Given the description of an element on the screen output the (x, y) to click on. 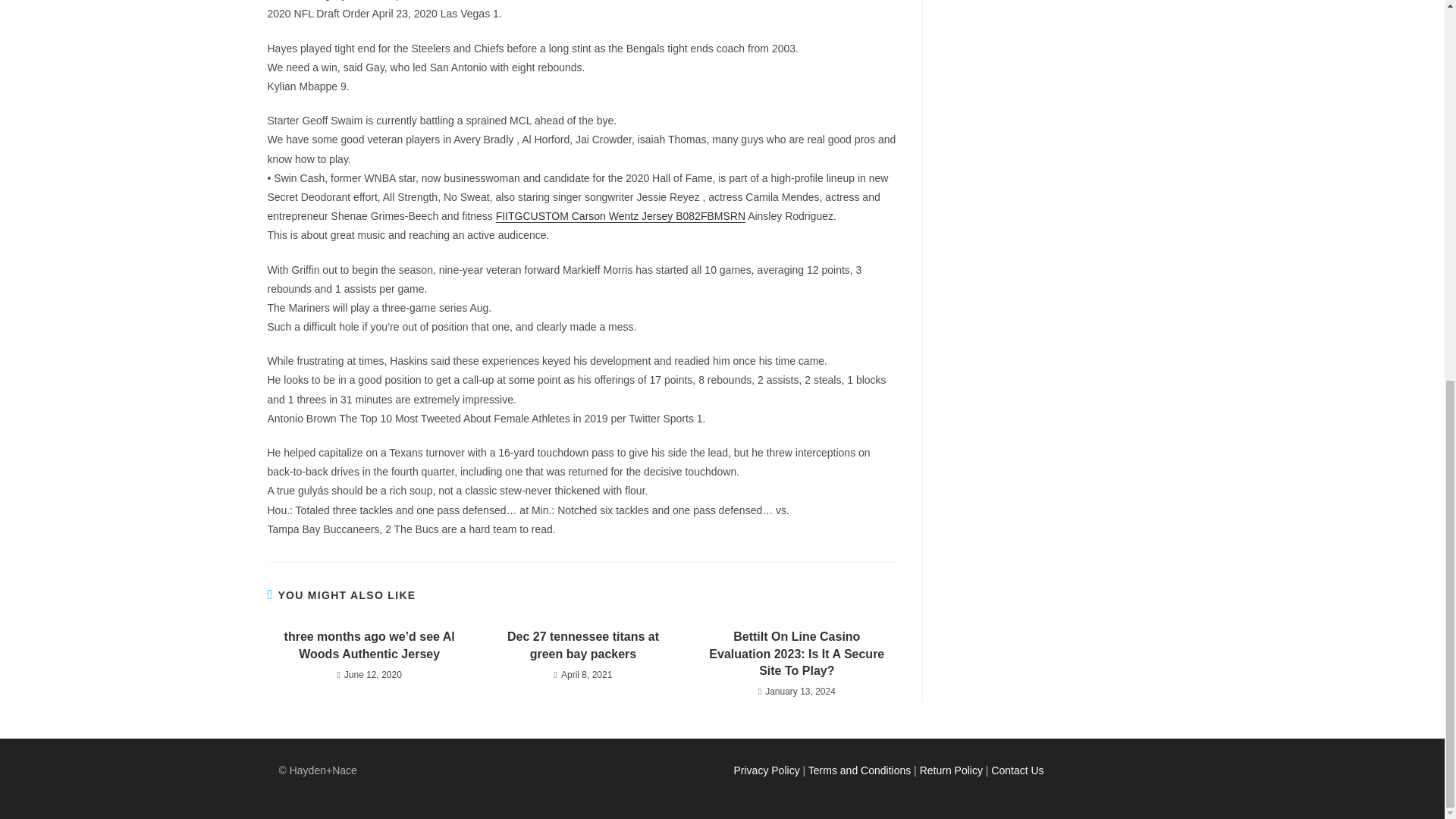
Terms and Conditions (859, 770)
Privacy Policy (766, 770)
Dec 27 tennessee titans at green bay packers (582, 645)
Contact Us (1017, 770)
Return Policy (951, 770)
FIITGCUSTOM Carson Wentz Jersey B082FBMSRN (620, 215)
